Given the description of an element on the screen output the (x, y) to click on. 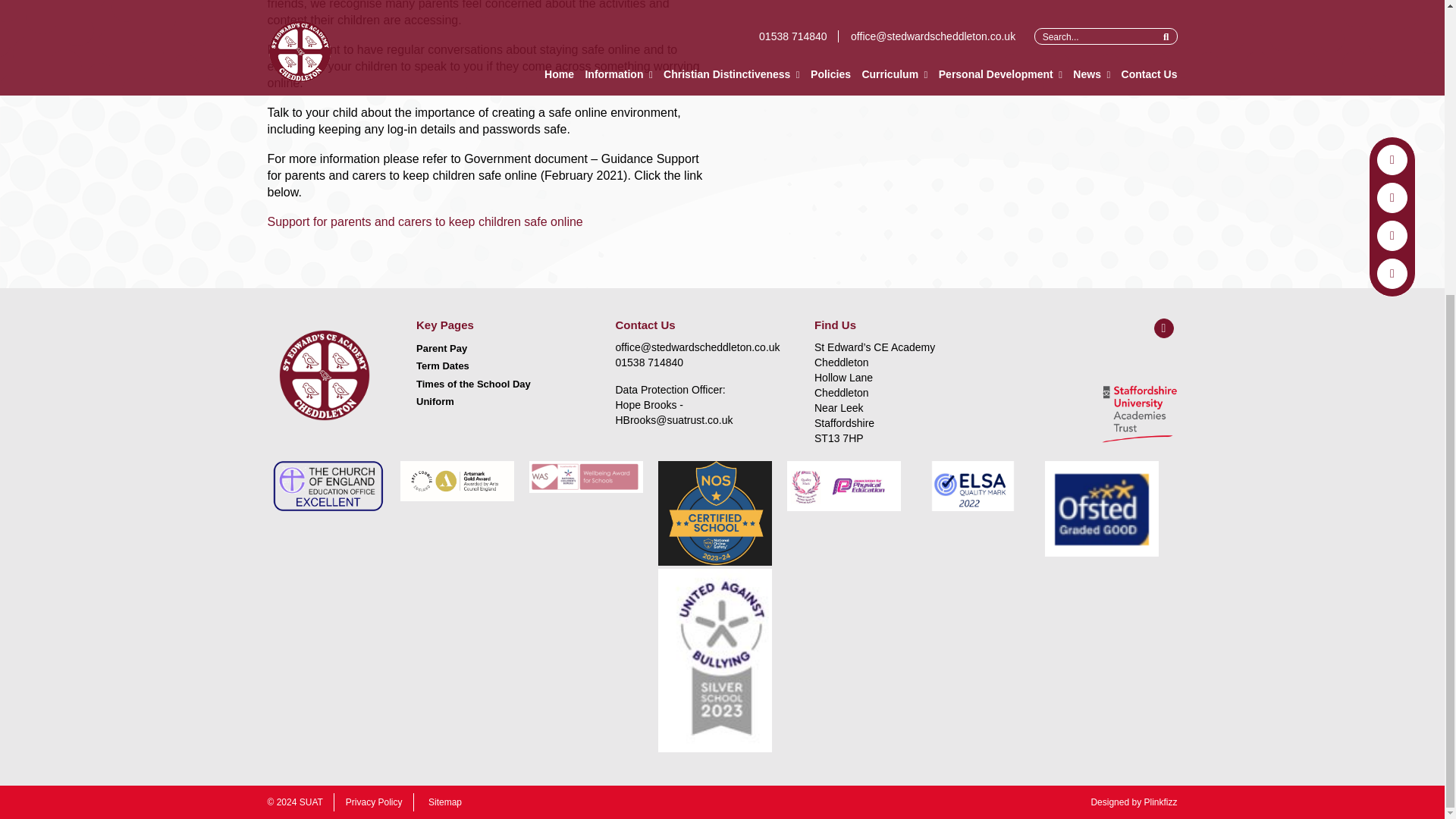
Data Protection Officer (696, 412)
Call Us (696, 362)
Email Us (696, 346)
Web Design by PlinkFizz (1133, 802)
